Given the description of an element on the screen output the (x, y) to click on. 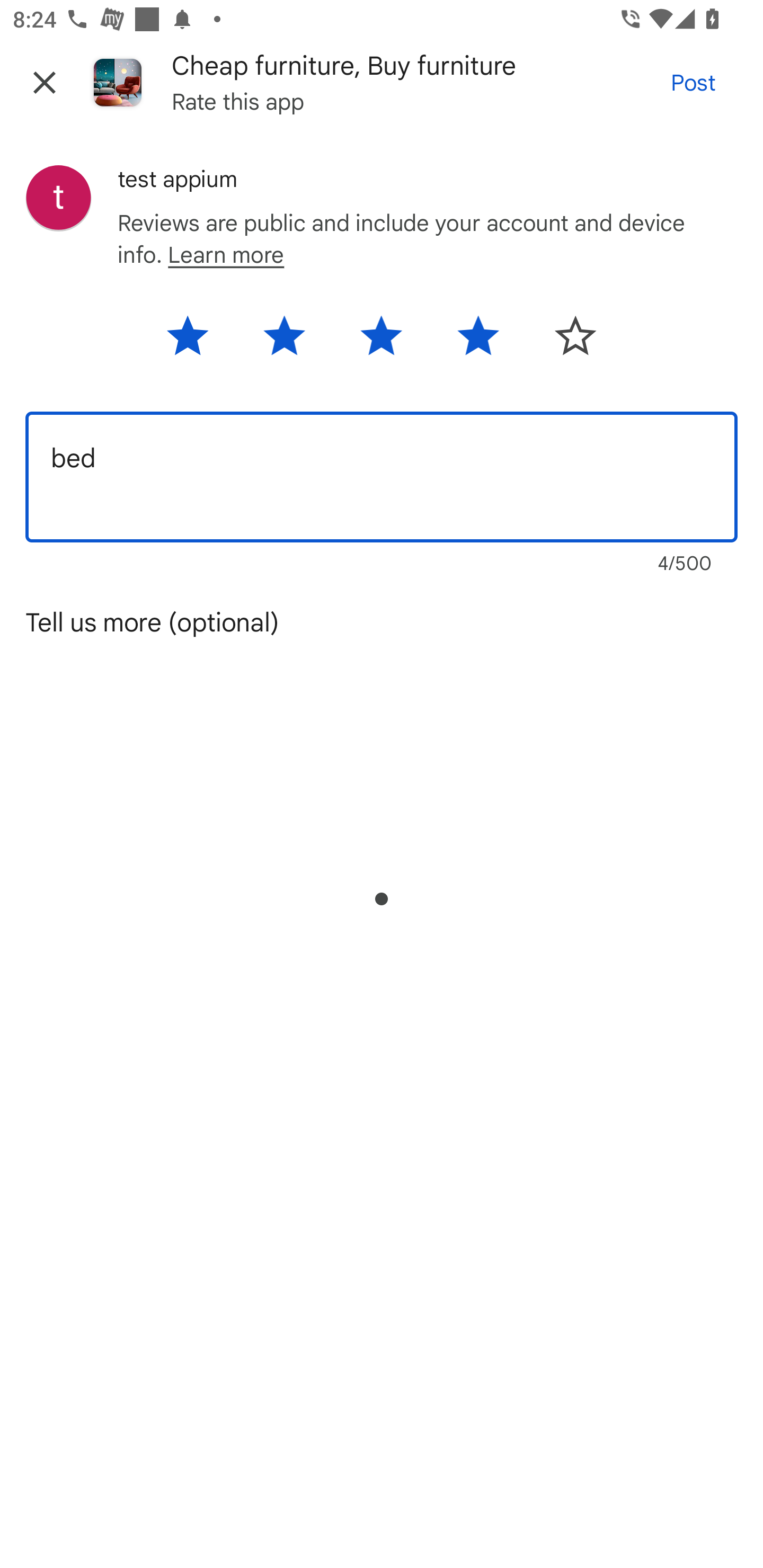
Close (44, 82)
Post (692, 81)
First star selected (198, 341)
Second star selected (283, 341)
Third star selected (380, 341)
Fourth star selected (477, 341)
Fifth star unselected (563, 341)
bed
 (381, 476)
